Given the description of an element on the screen output the (x, y) to click on. 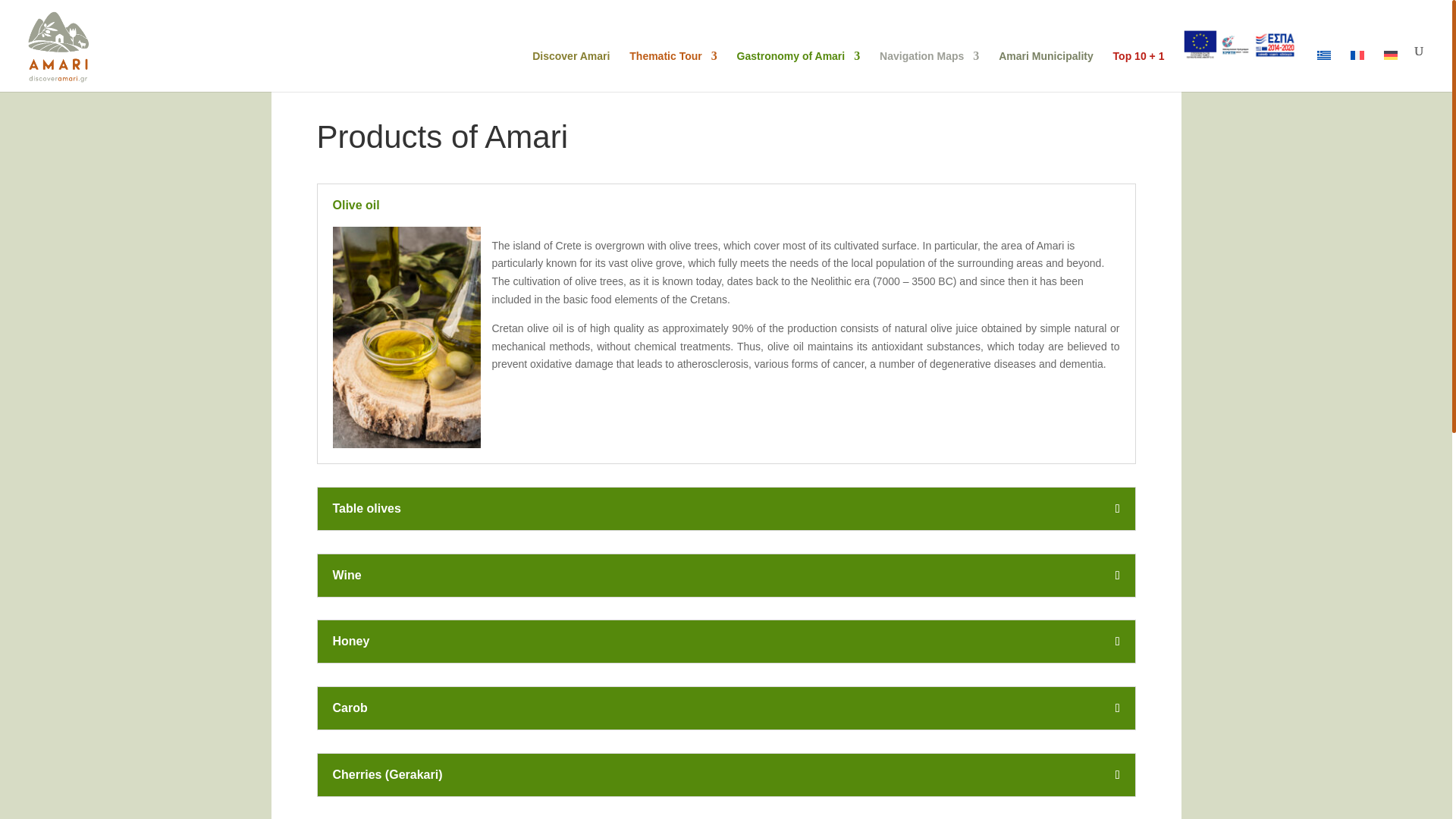
Amari Municipality (1045, 70)
Navigation Maps (928, 70)
Discover Amari (571, 70)
Gastronomy of Amari (798, 70)
Thematic Tour (672, 70)
